Given the description of an element on the screen output the (x, y) to click on. 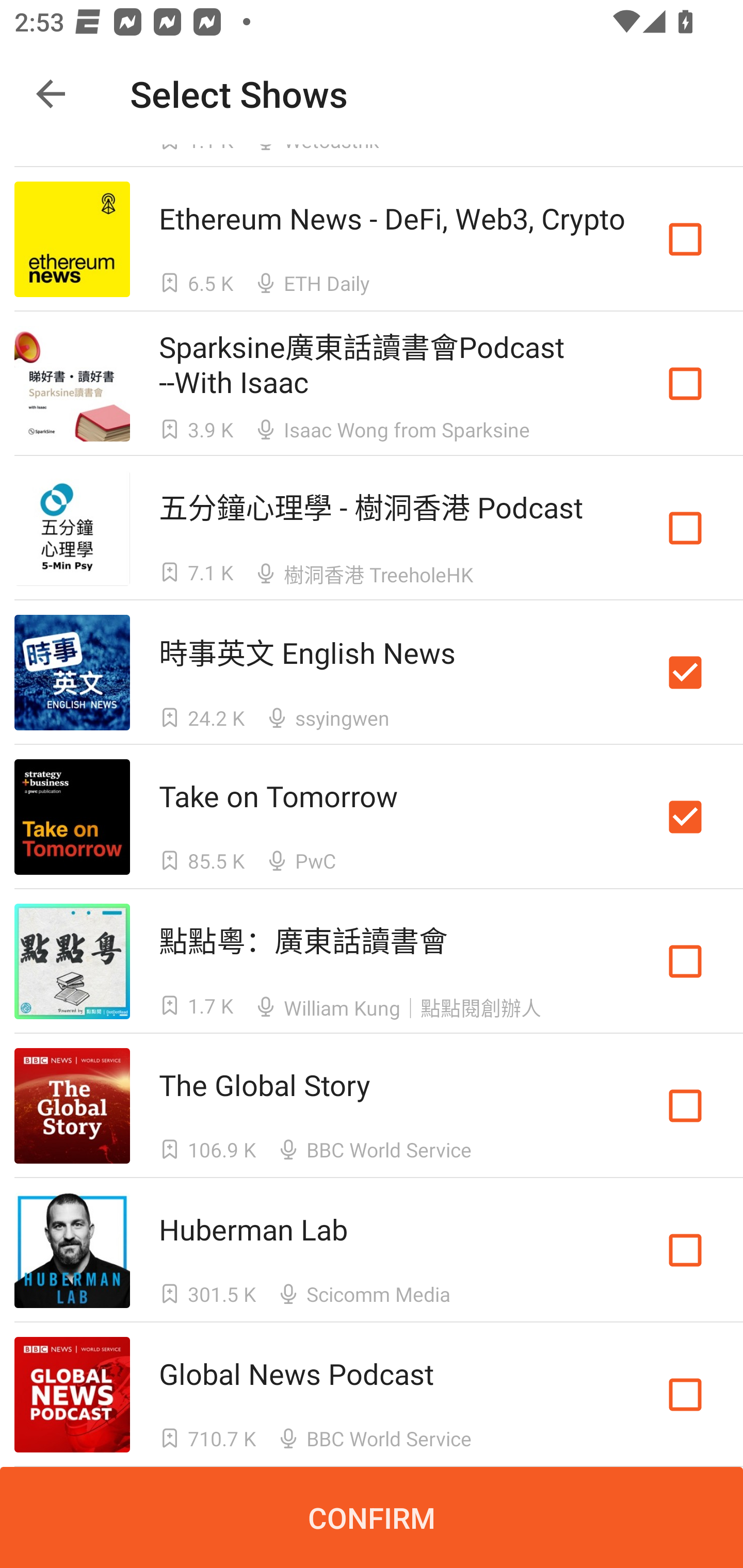
Navigate up (50, 93)
Take on Tomorrow Take on Tomorrow  85.5 K  PwC (371, 816)
CONFIRM (371, 1517)
